Given the description of an element on the screen output the (x, y) to click on. 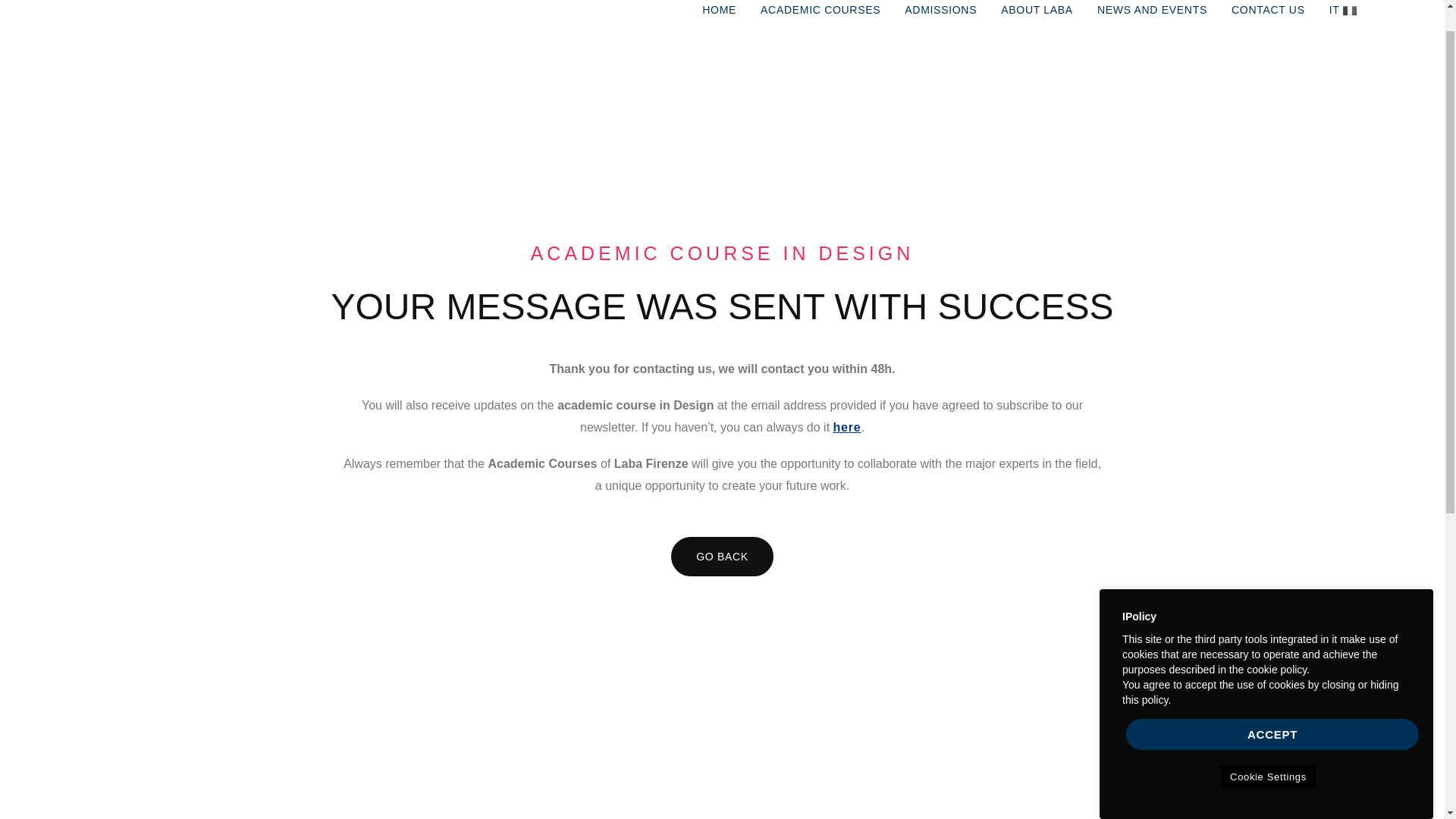
HOME (719, 27)
